Given the description of an element on the screen output the (x, y) to click on. 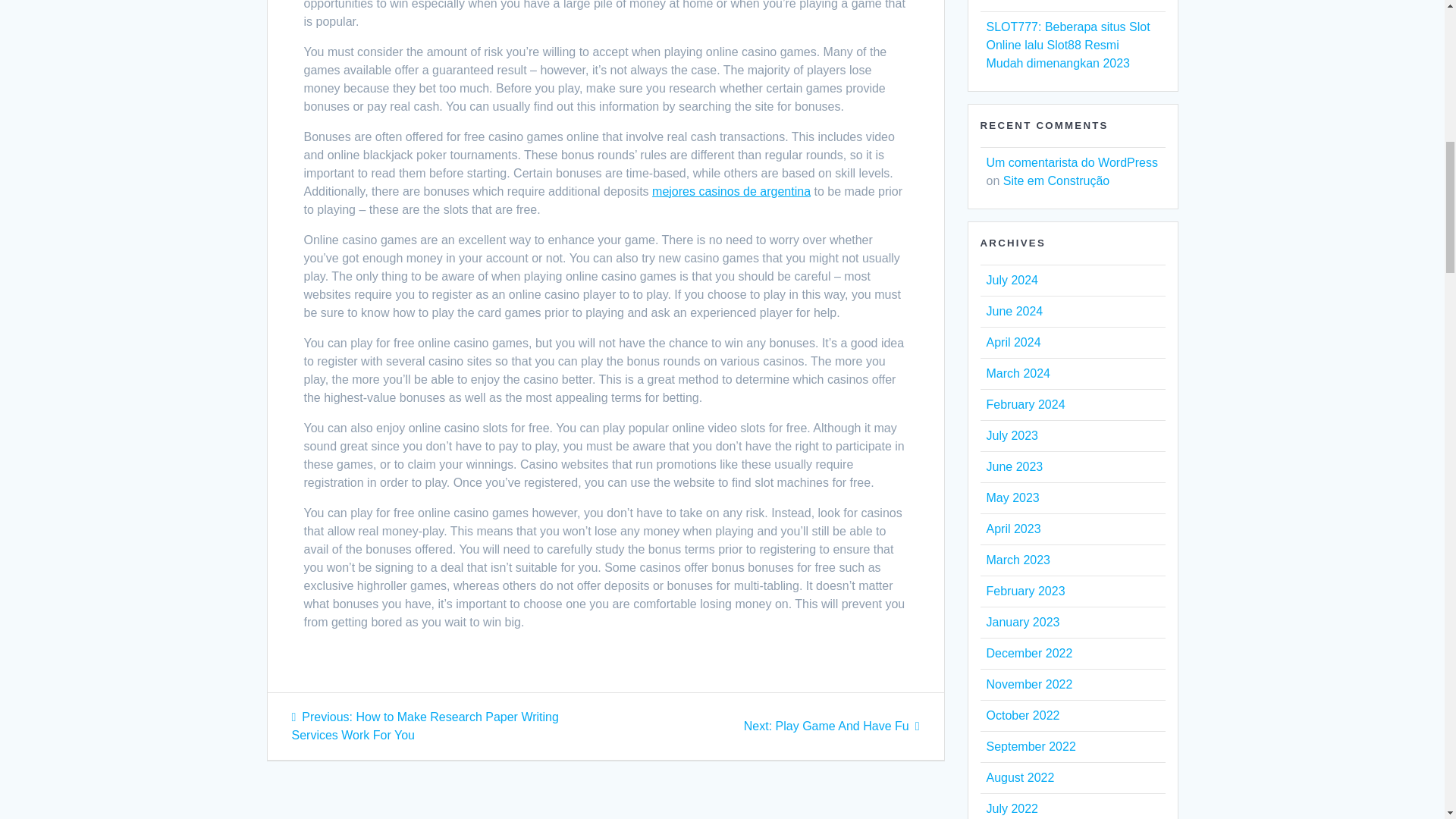
July 2024 (1011, 279)
March 2023 (1017, 559)
Cara Meraih kemenangan dalam Judi Beraksi Slot Online (1068, 1)
mejores casinos de argentina (731, 191)
July 2022 (1011, 808)
Um comentarista do WordPress (1071, 162)
May 2023 (1012, 497)
December 2022 (832, 725)
April 2023 (1028, 653)
February 2023 (1013, 528)
February 2024 (1024, 590)
June 2024 (1024, 404)
October 2022 (1013, 310)
